Given the description of an element on the screen output the (x, y) to click on. 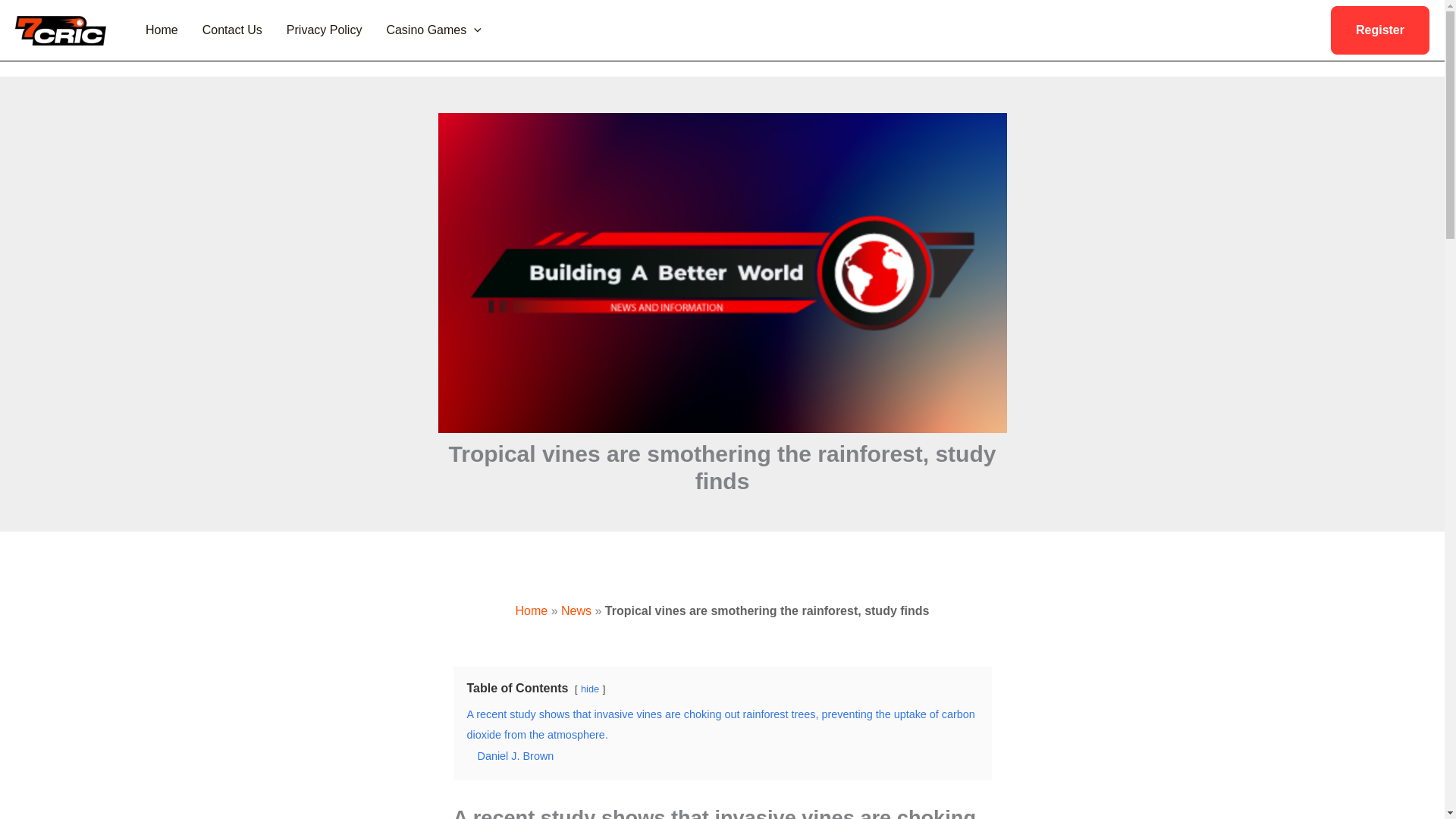
Daniel J. Brown (515, 756)
Register (1379, 29)
News (575, 610)
Contact Us (232, 30)
Casino Games (433, 30)
hide (589, 688)
Home (531, 610)
Home (161, 30)
Privacy Policy (324, 30)
